Given the description of an element on the screen output the (x, y) to click on. 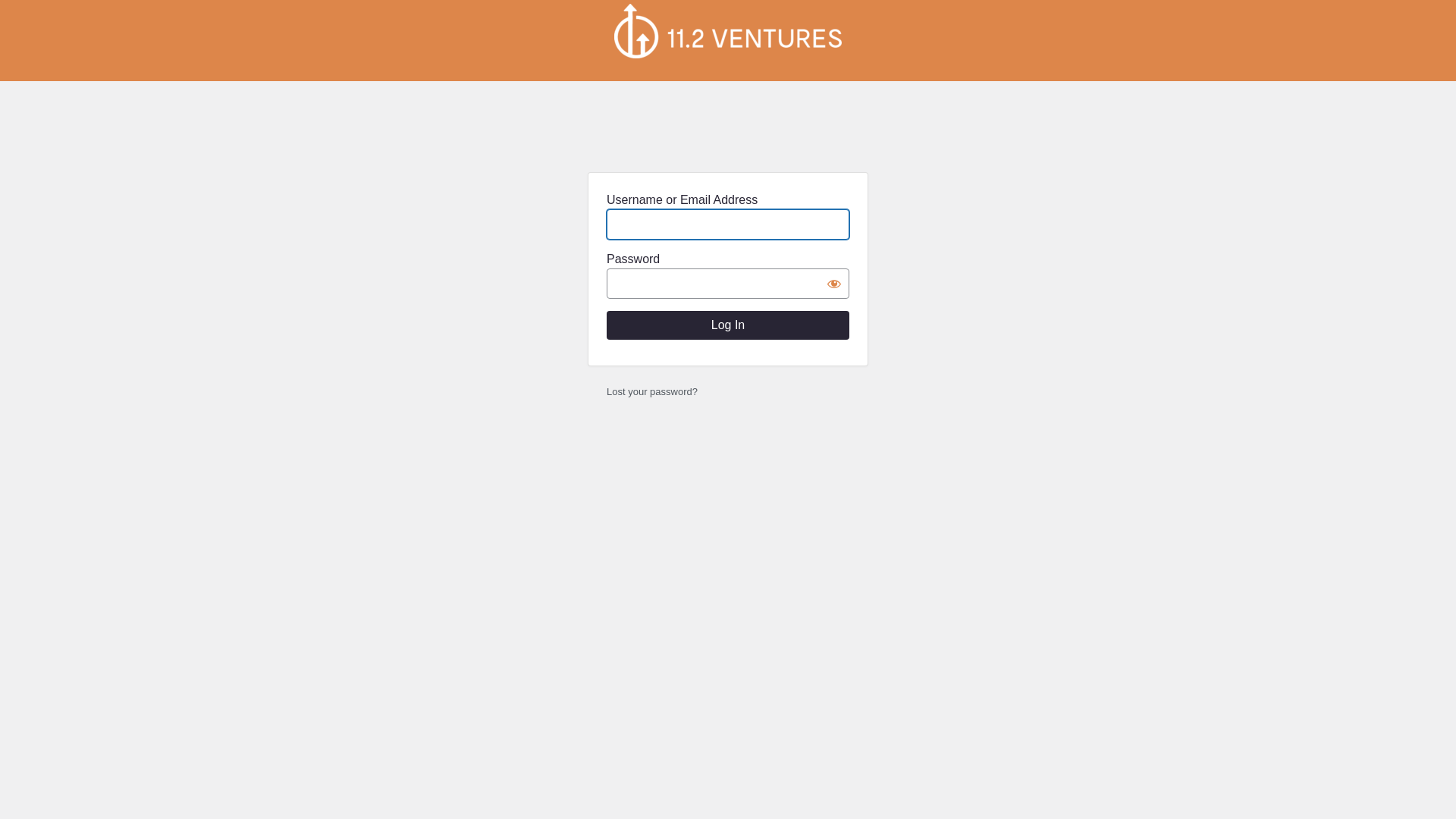
Powered by WordPress Element type: text (727, 30)
Lost your password? Element type: text (651, 391)
Log In Element type: text (727, 324)
